Given the description of an element on the screen output the (x, y) to click on. 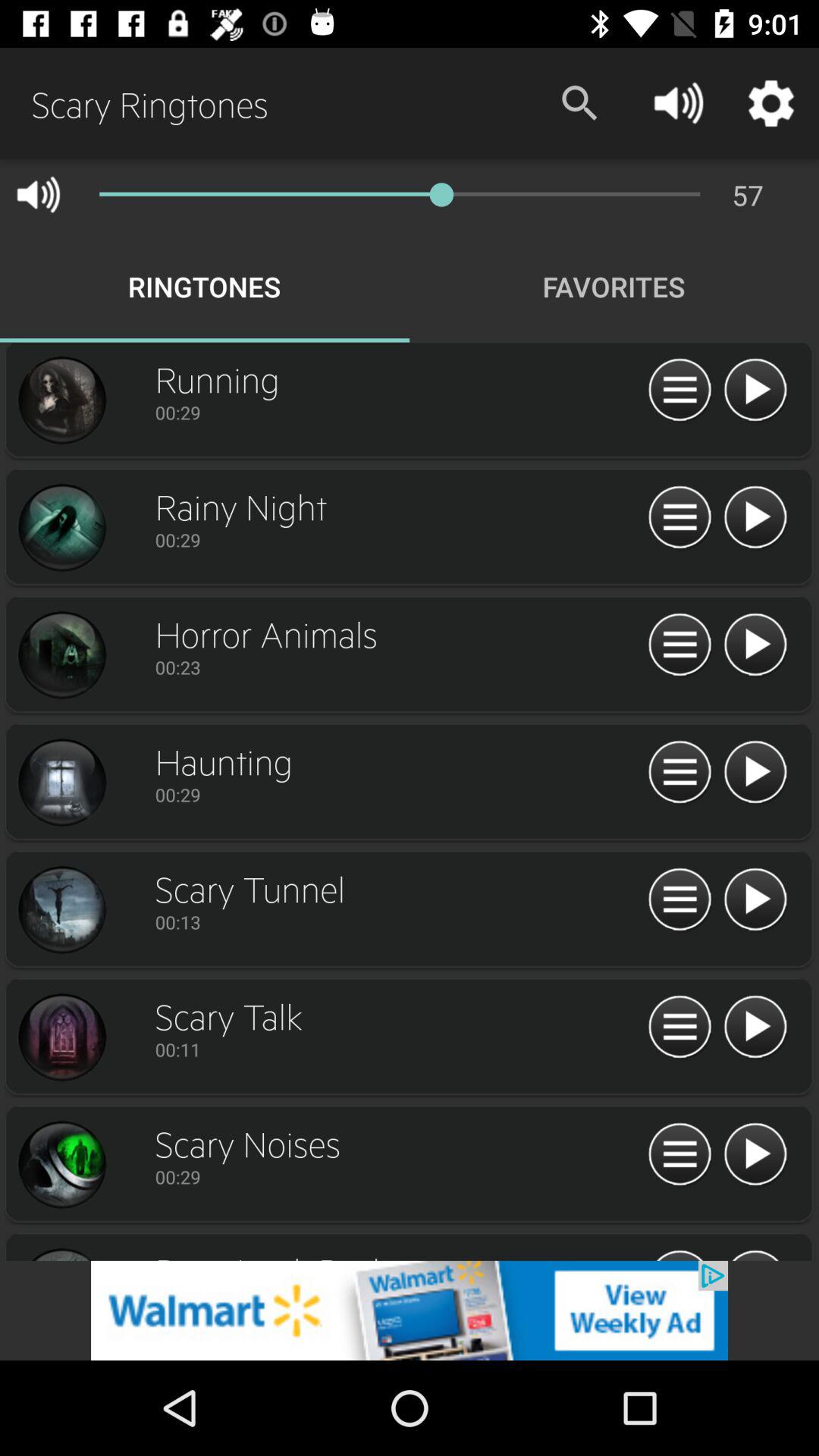
menu option (679, 1027)
